Given the description of an element on the screen output the (x, y) to click on. 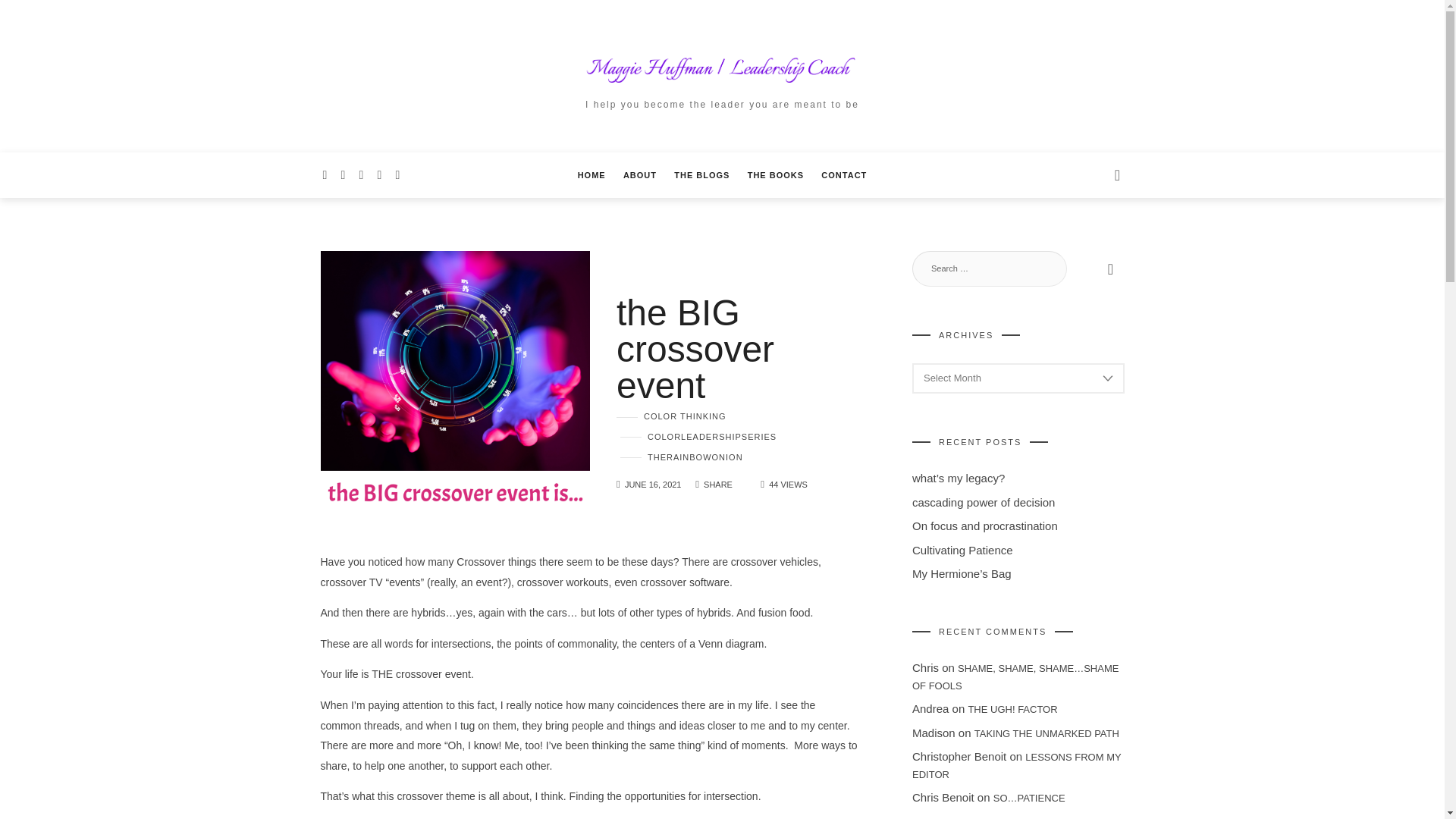
COLOR THINKING (670, 416)
THE BOOKS (775, 175)
THE BLOGS (701, 175)
CONTACT (843, 175)
COLORLEADERSHIPSERIES (698, 437)
JUNE 16, 2021 (652, 483)
THERAINBOWONION (681, 457)
